Given the description of an element on the screen output the (x, y) to click on. 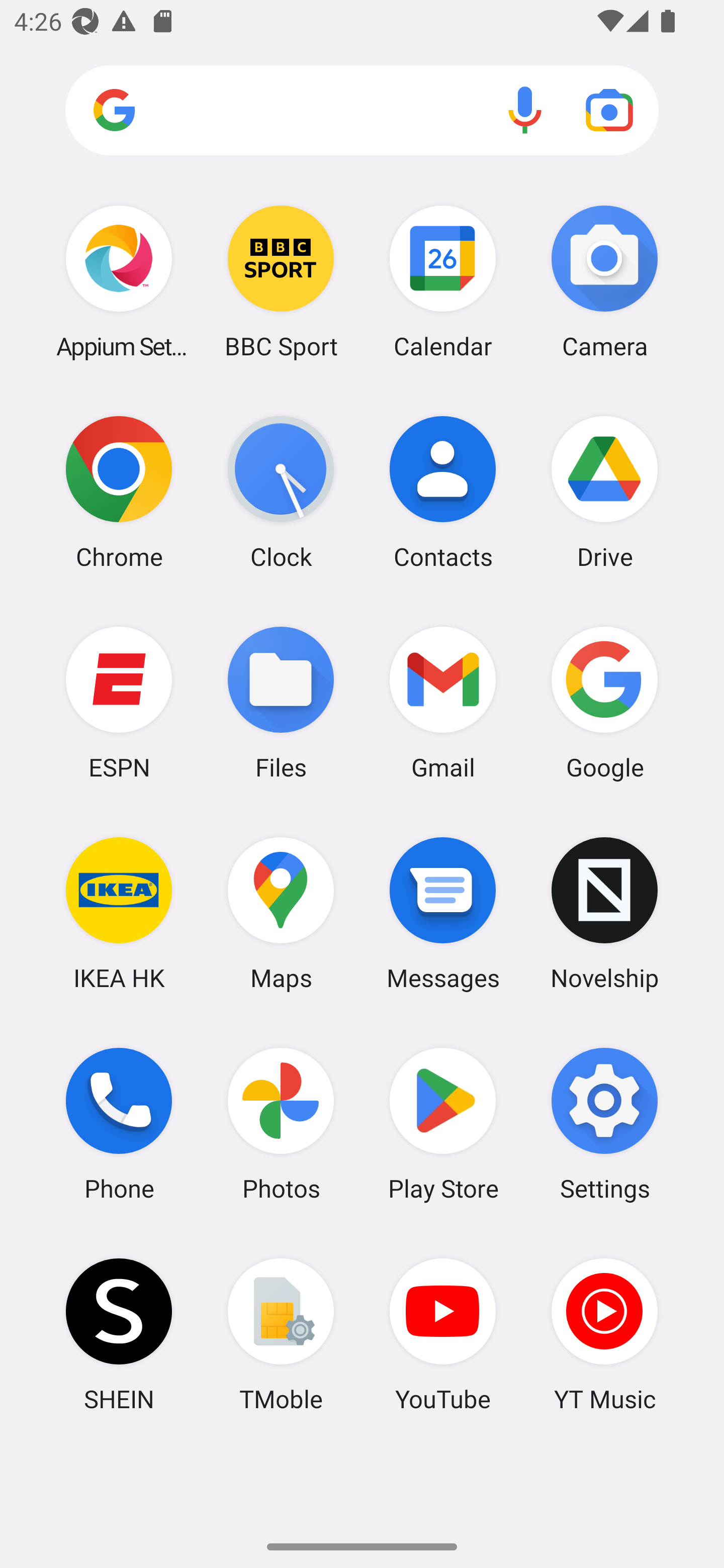
Search apps, web and more (361, 110)
Voice search (524, 109)
Google Lens (608, 109)
Appium Settings (118, 281)
BBC Sport (280, 281)
Calendar (443, 281)
Camera (604, 281)
Chrome (118, 492)
Clock (280, 492)
Contacts (443, 492)
Drive (604, 492)
ESPN (118, 702)
Files (280, 702)
Gmail (443, 702)
Google (604, 702)
IKEA HK (118, 913)
Maps (280, 913)
Messages (443, 913)
Novelship (604, 913)
Phone (118, 1124)
Photos (280, 1124)
Play Store (443, 1124)
Settings (604, 1124)
SHEIN (118, 1334)
TMoble (280, 1334)
YouTube (443, 1334)
YT Music (604, 1334)
